Given the description of an element on the screen output the (x, y) to click on. 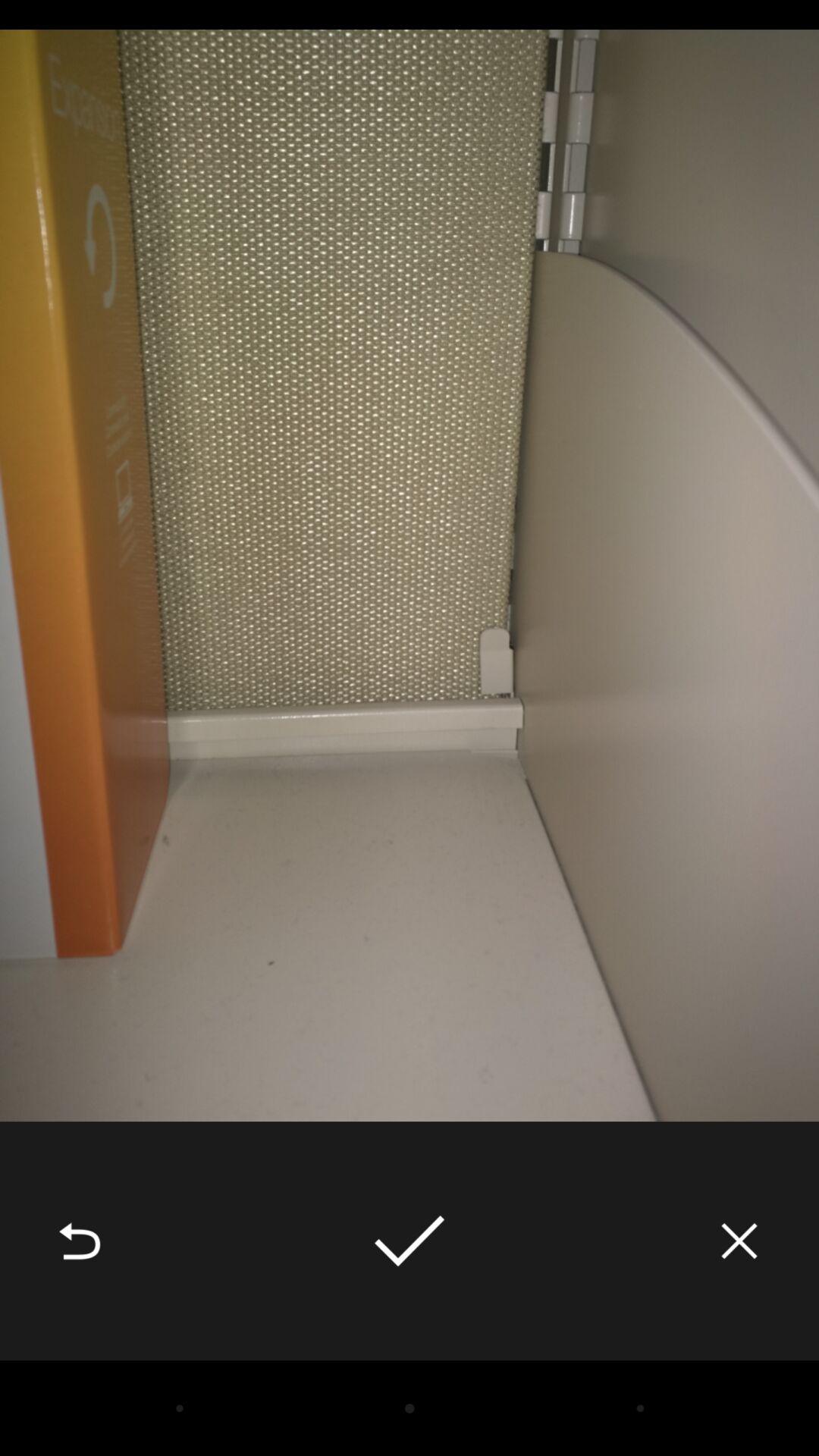
turn off the item at the bottom right corner (739, 1240)
